Given the description of an element on the screen output the (x, y) to click on. 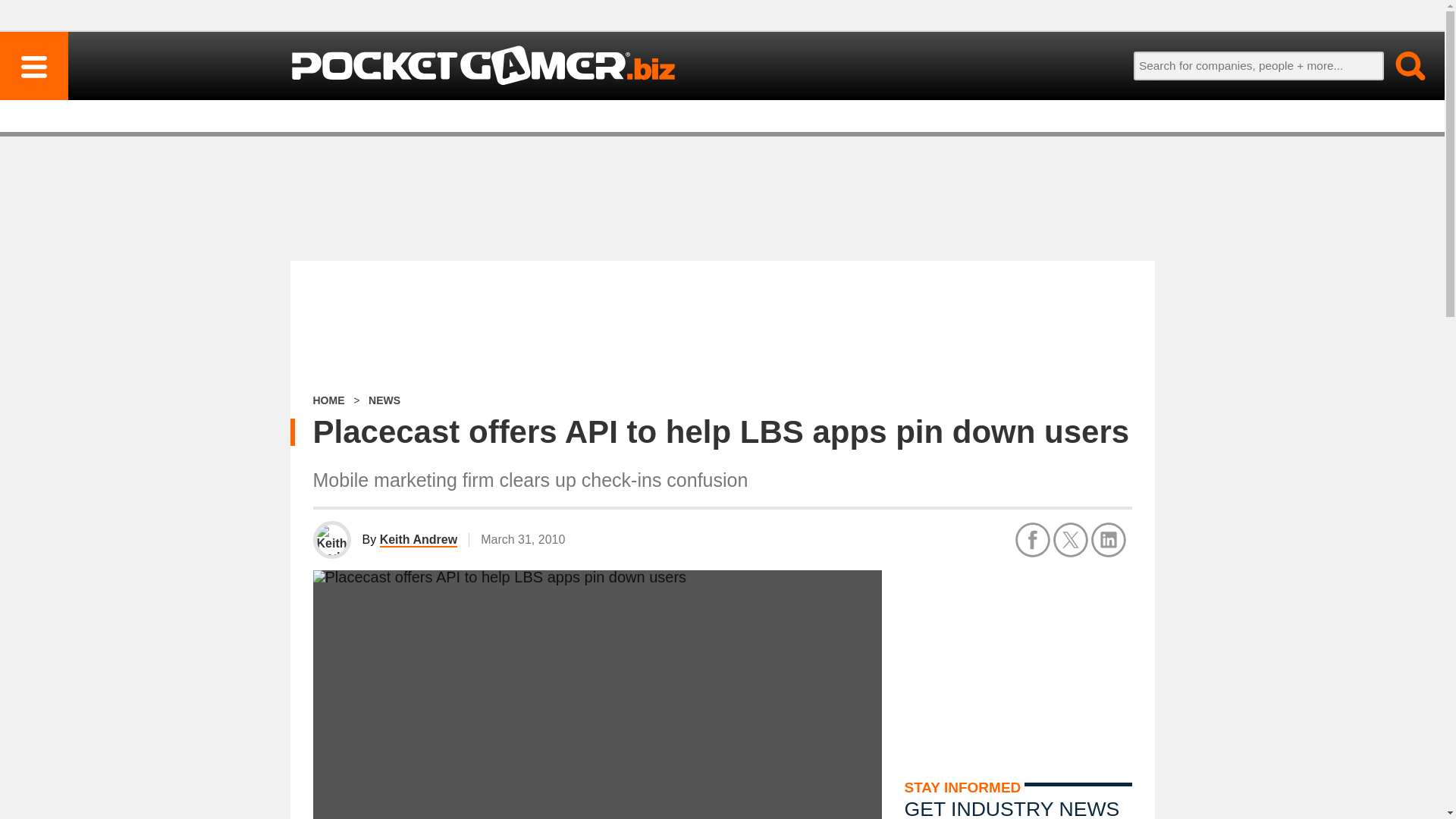
Go (1402, 65)
NEWS (384, 400)
Keith Andrew (419, 540)
HOME (328, 400)
Go (1402, 65)
